Given the description of an element on the screen output the (x, y) to click on. 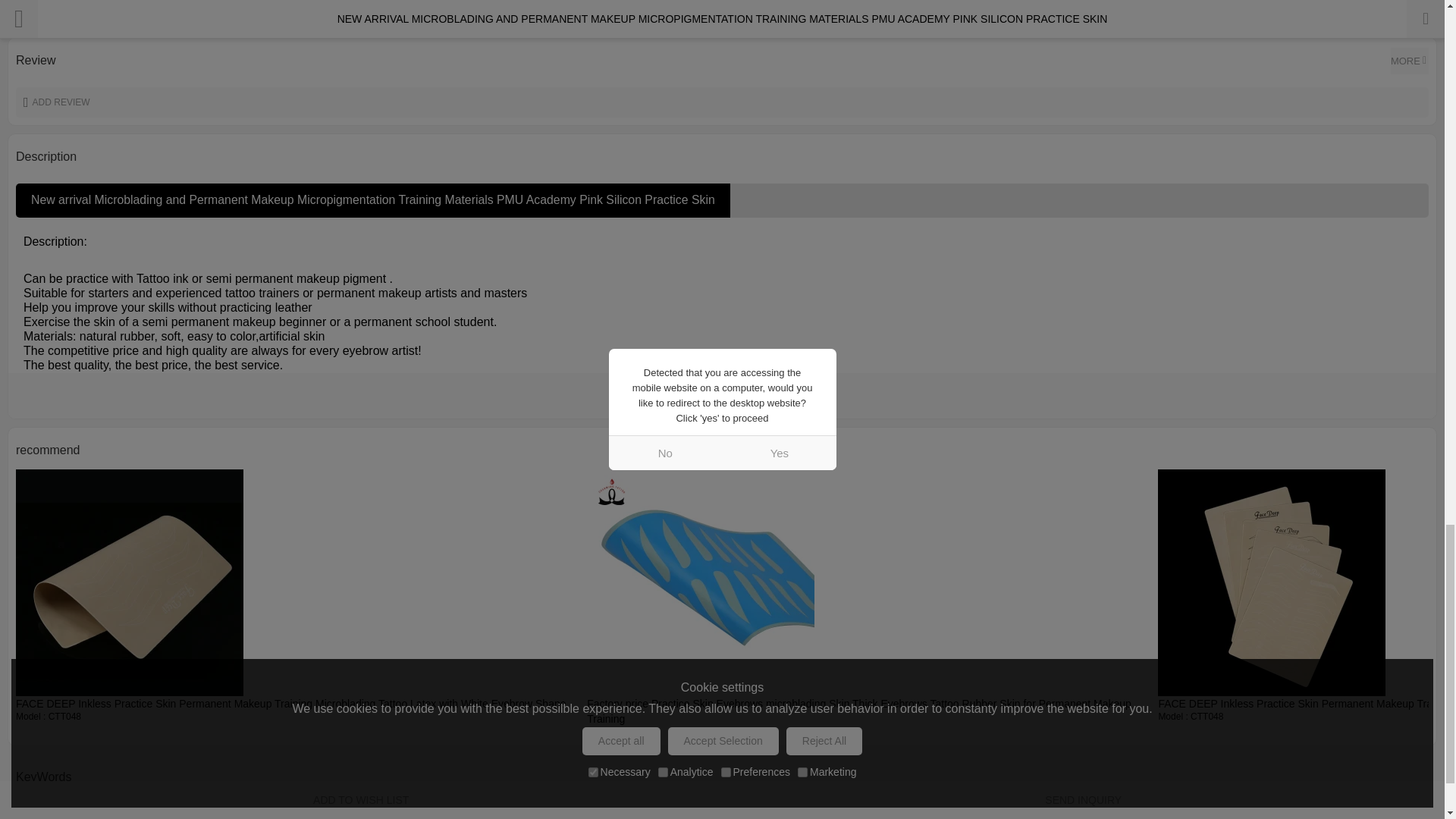
ADD REVIEW (722, 101)
Review (1409, 60)
View More (721, 395)
MORE (1409, 60)
VIEW MORE (721, 395)
Add review (722, 101)
